Given the description of an element on the screen output the (x, y) to click on. 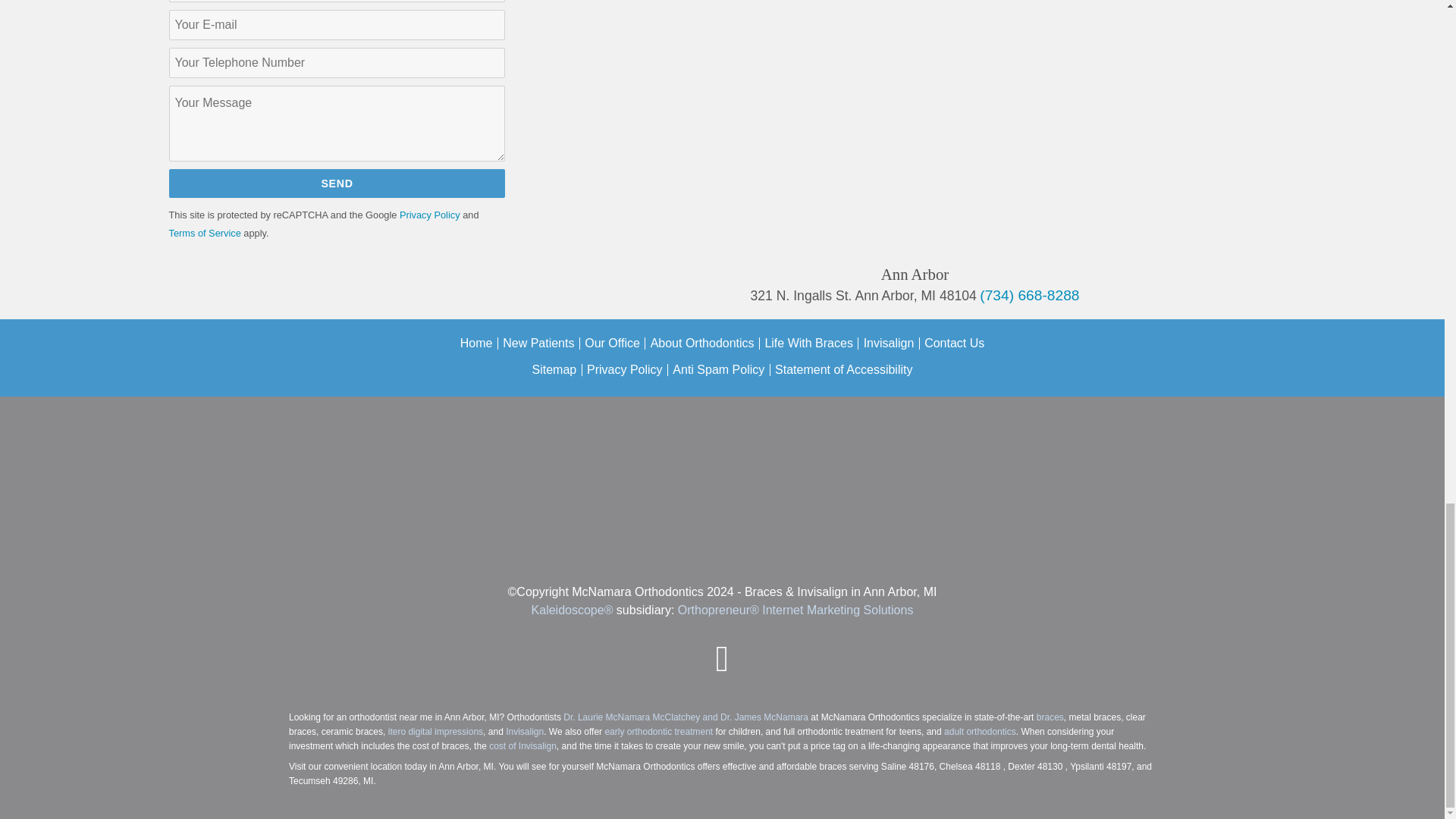
Send (336, 182)
